Given the description of an element on the screen output the (x, y) to click on. 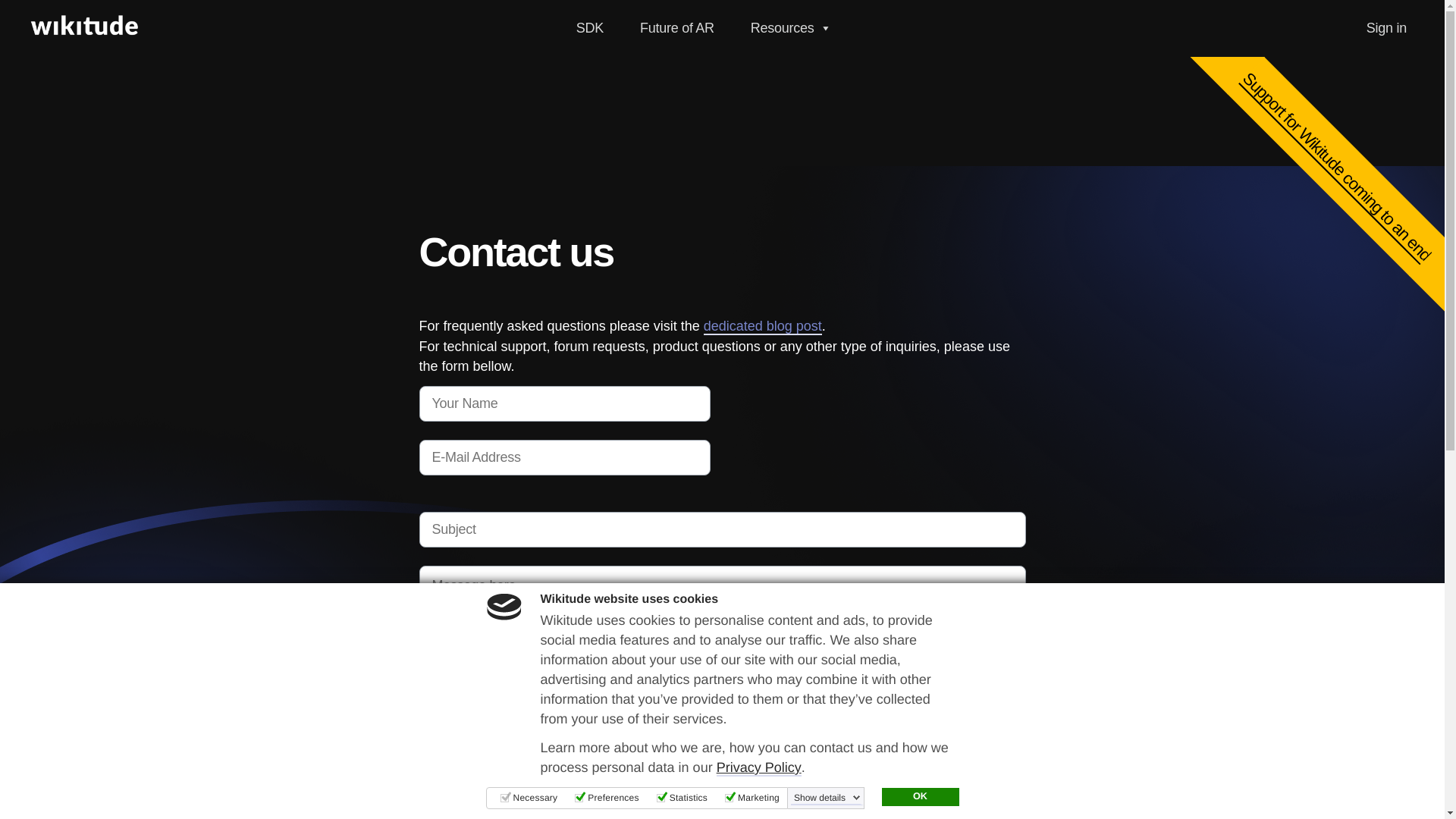
Privacy Policy (759, 768)
Contact us (475, 811)
Show details (826, 798)
OK (919, 796)
